Given the description of an element on the screen output the (x, y) to click on. 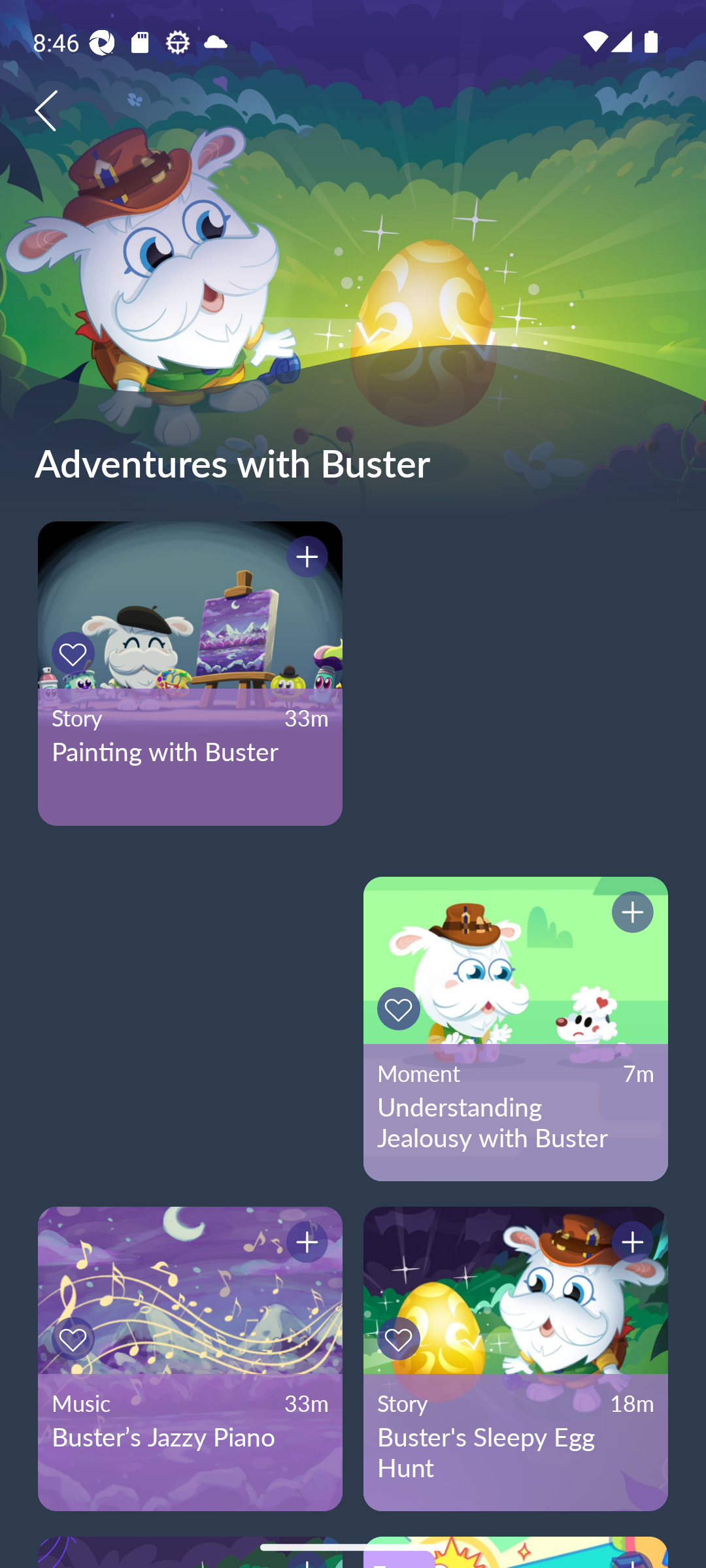
Button (304, 558)
Button (76, 652)
Button (629, 914)
Button (401, 1008)
Button (304, 1244)
Button (629, 1244)
Button (76, 1338)
Button (401, 1338)
